Given the description of an element on the screen output the (x, y) to click on. 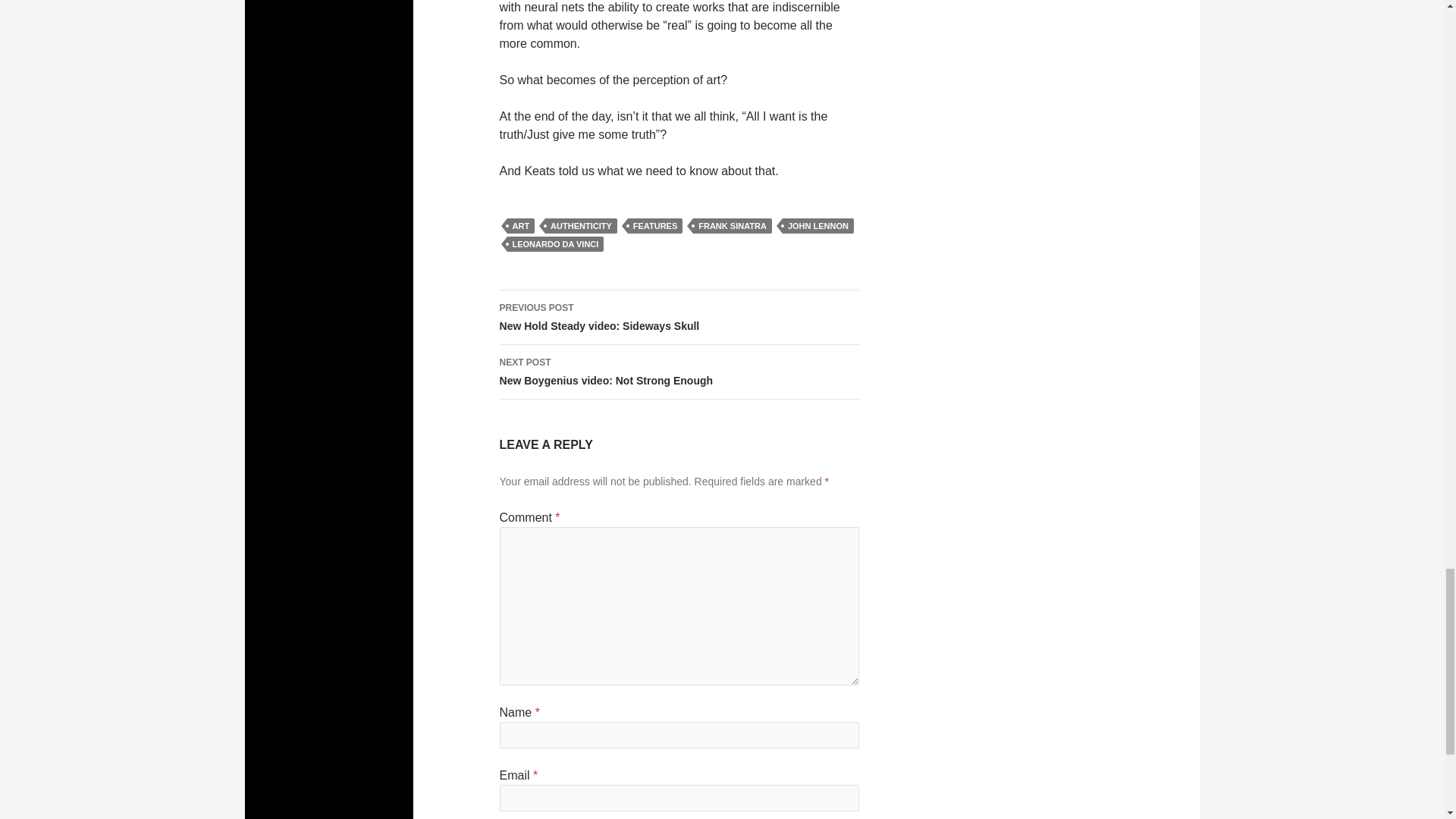
ART (520, 225)
LEONARDO DA VINCI (555, 243)
AUTHENTICITY (679, 317)
JOHN LENNON (580, 225)
FEATURES (818, 225)
FRANK SINATRA (654, 225)
